Given the description of an element on the screen output the (x, y) to click on. 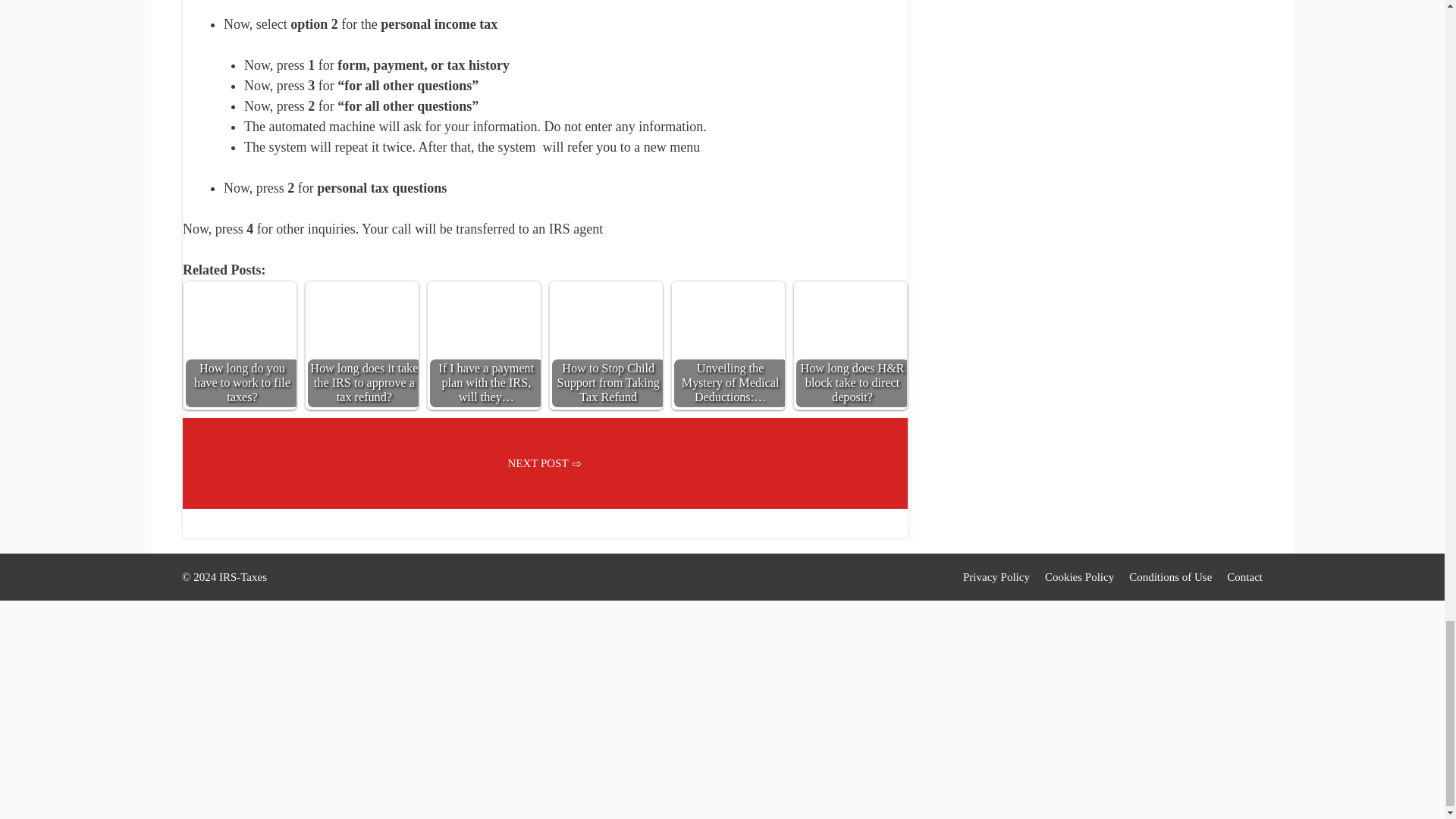
Conditions of Use (1170, 576)
How long do you have to work to file taxes? (240, 337)
How long does it take the IRS to approve a tax refund? (361, 337)
Cookies Policy (1079, 576)
How to Stop Child Support from Taking Tax Refund (606, 337)
Privacy Policy (995, 576)
Contact (1244, 576)
